Given the description of an element on the screen output the (x, y) to click on. 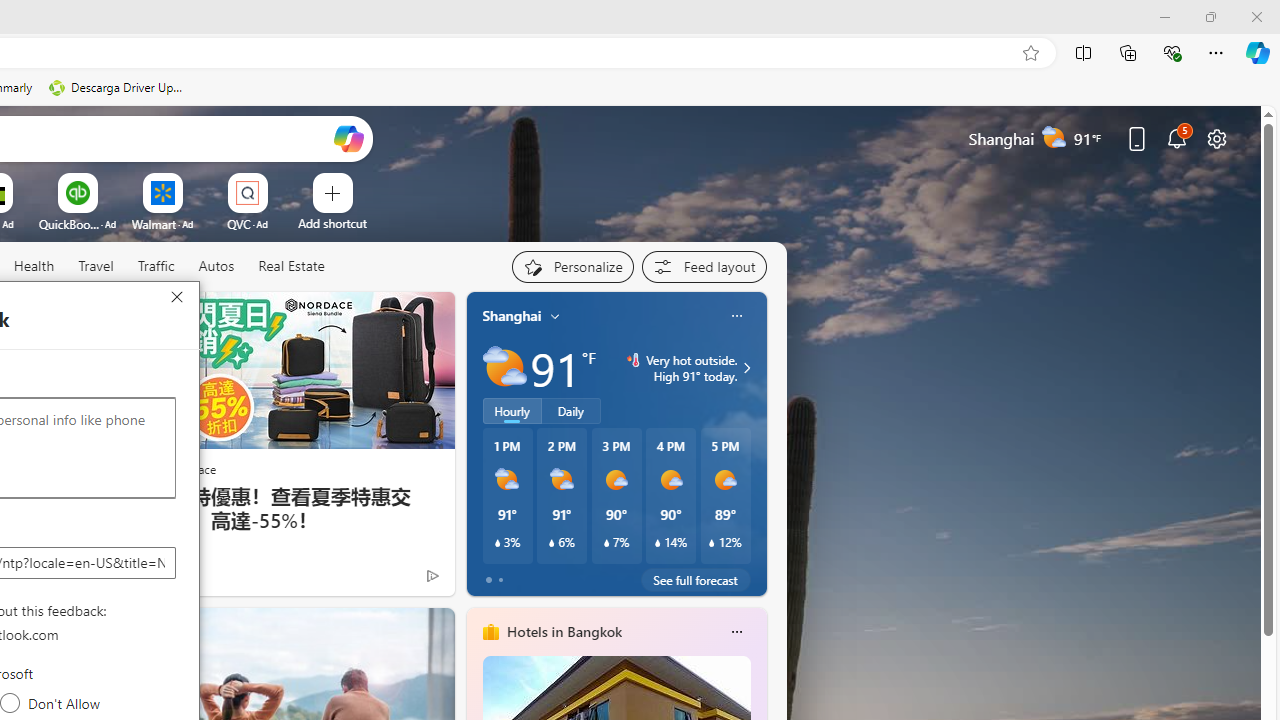
Descarga Driver Updater (118, 88)
Traffic (155, 267)
